Given the description of an element on the screen output the (x, y) to click on. 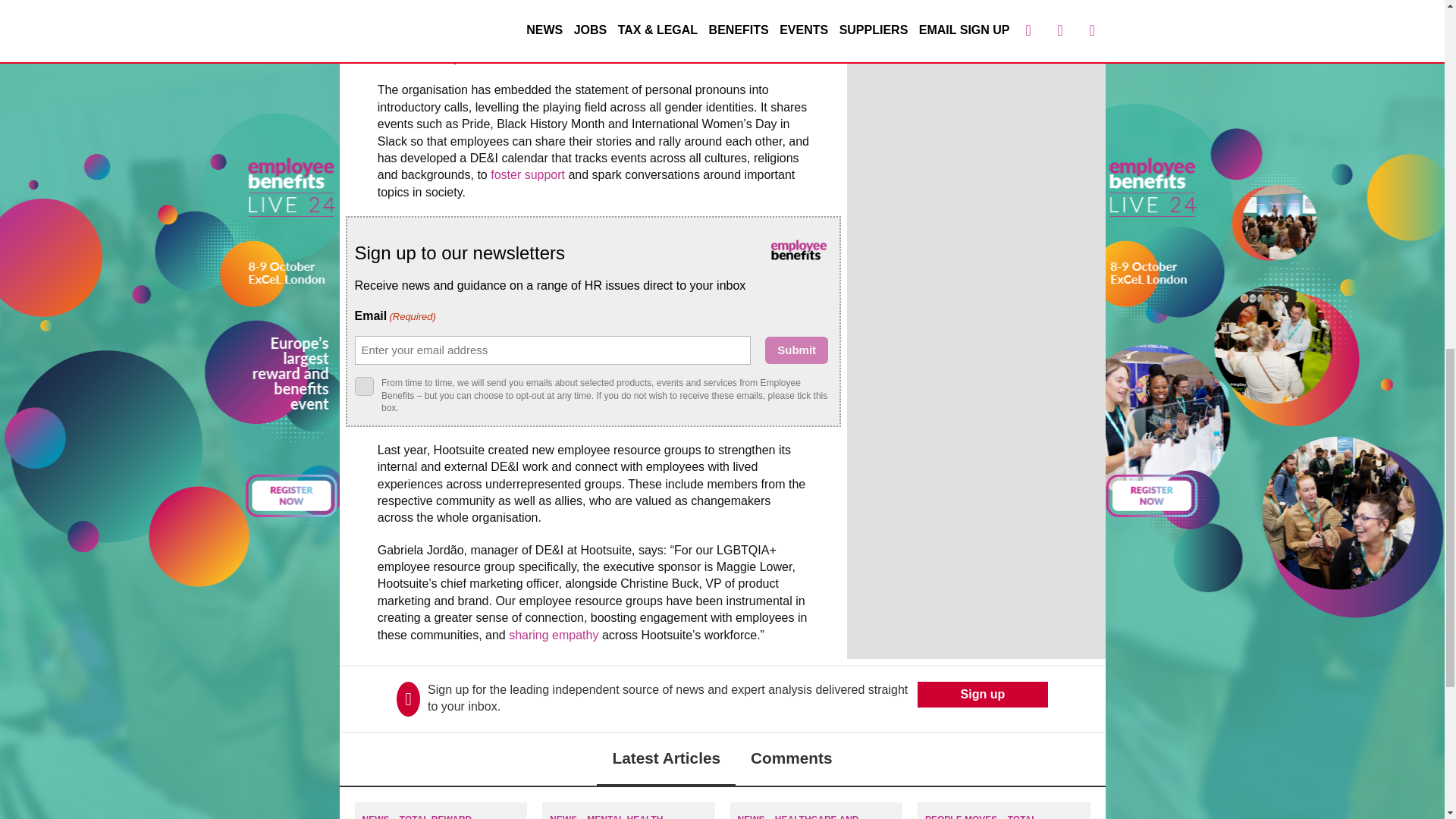
Submit (796, 349)
sharing empathy (553, 634)
Latest Articles (665, 759)
foster support (527, 174)
TOTAL REWARD (434, 816)
yes (364, 385)
NEWS (376, 816)
Comments (791, 759)
3rd party ad content (975, 128)
Submit (796, 349)
